Given the description of an element on the screen output the (x, y) to click on. 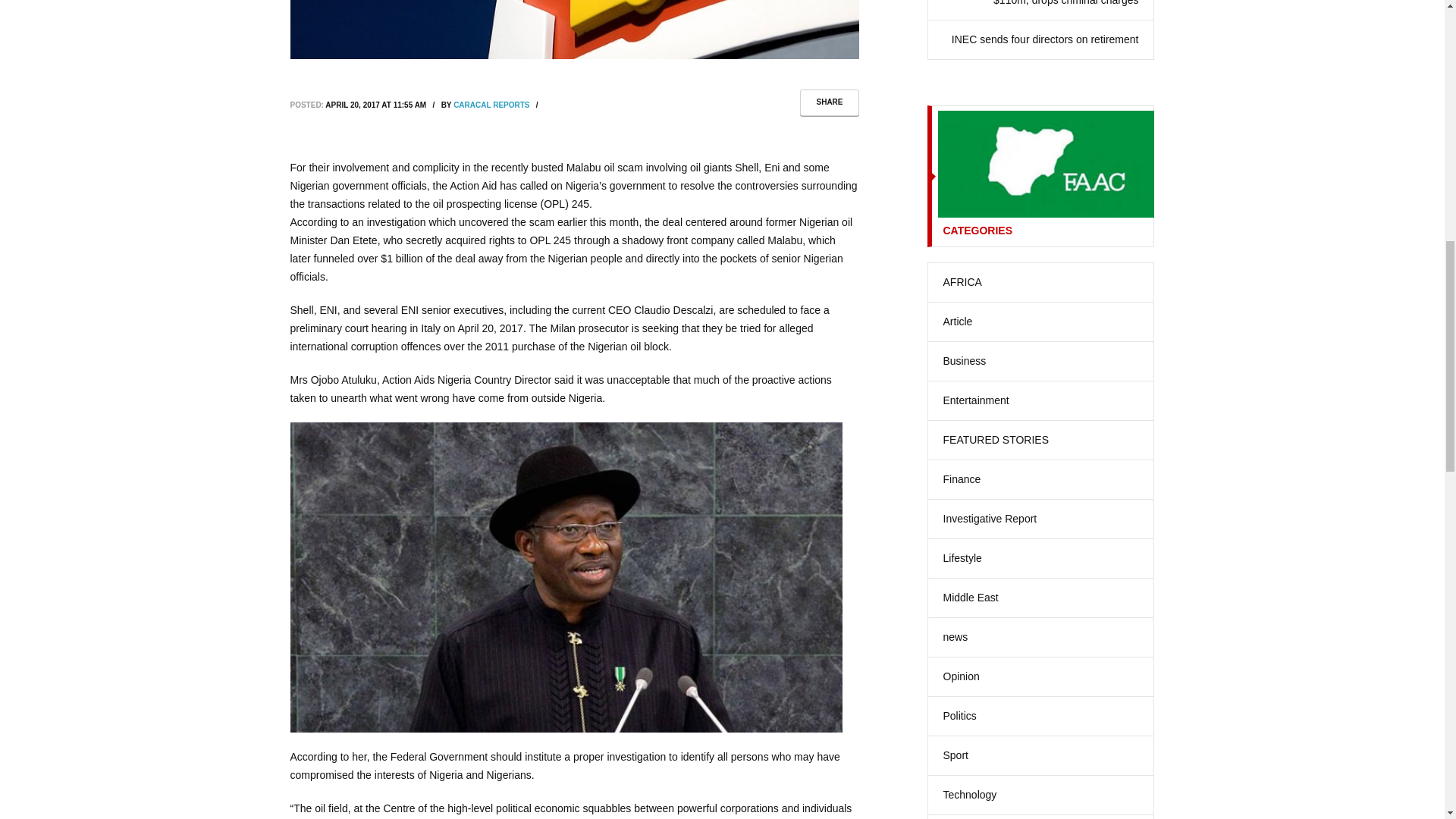
Lifestyle (962, 558)
CARACAL REPORTS (490, 104)
Finance (962, 479)
Posts by Caracal Reports (490, 104)
Investigative Report (989, 519)
Article (957, 321)
news (955, 637)
FEATURED STORIES (996, 439)
Politics (959, 715)
AFRICA (962, 282)
Opinion (961, 676)
INEC sends four directors on retirement (1045, 39)
Entertainment (976, 400)
Middle East (970, 597)
Business (965, 360)
